Given the description of an element on the screen output the (x, y) to click on. 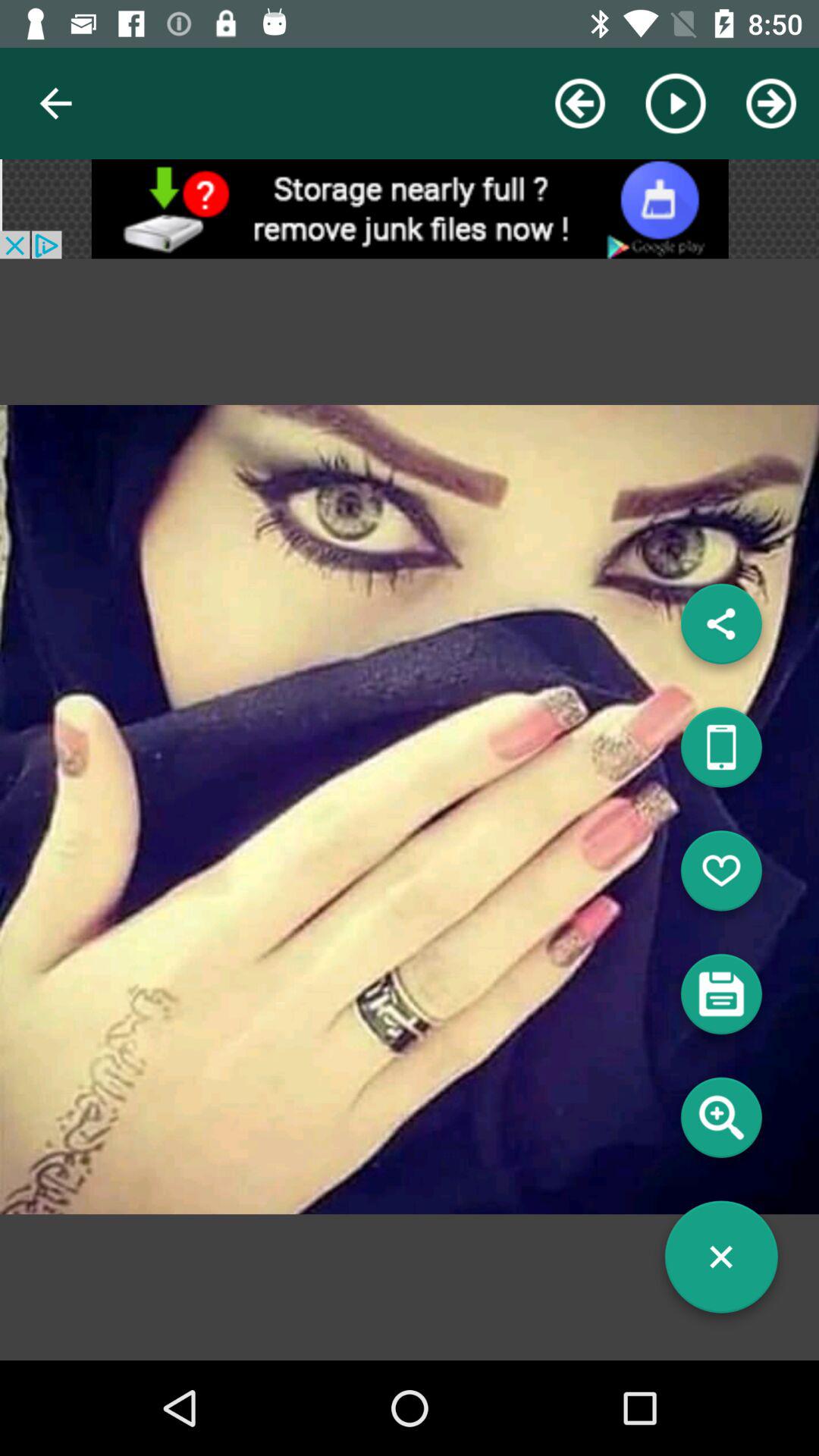
mark favorite (721, 876)
